Given the description of an element on the screen output the (x, y) to click on. 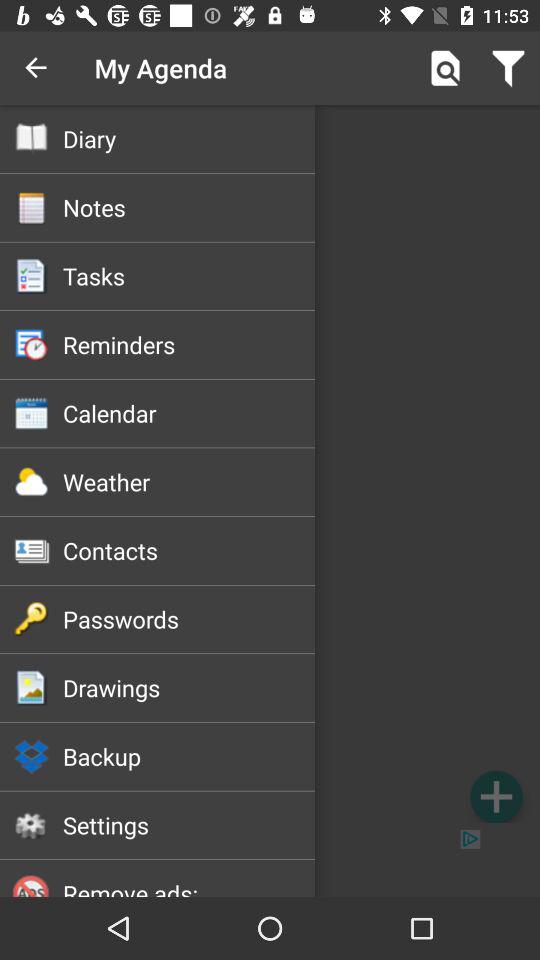
select weather icon (188, 482)
